Given the description of an element on the screen output the (x, y) to click on. 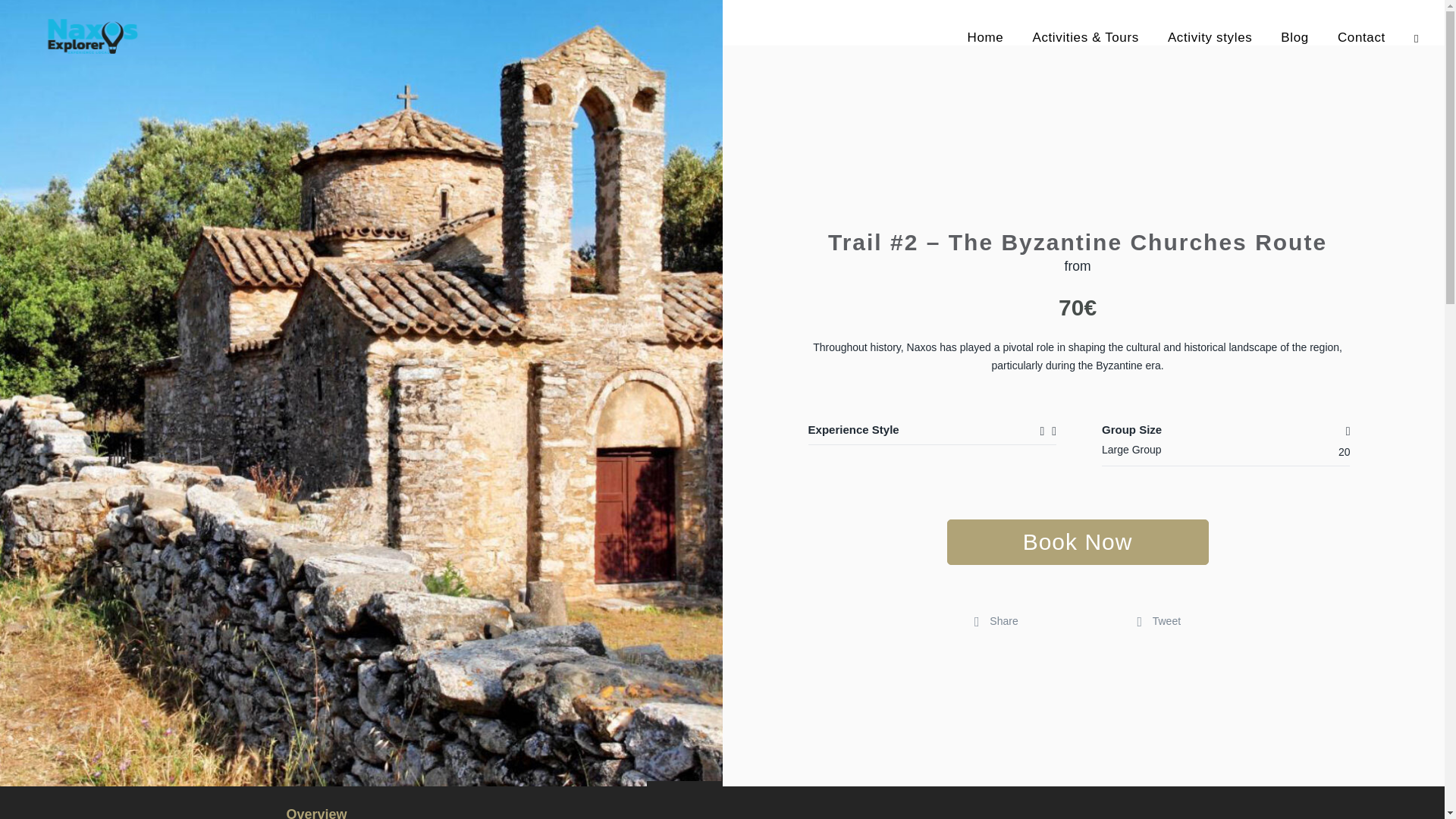
Book Now (1077, 542)
Tweet (1158, 621)
Overview (316, 812)
Activity styles (1209, 53)
Share (995, 621)
Contact (1362, 53)
